Given the description of an element on the screen output the (x, y) to click on. 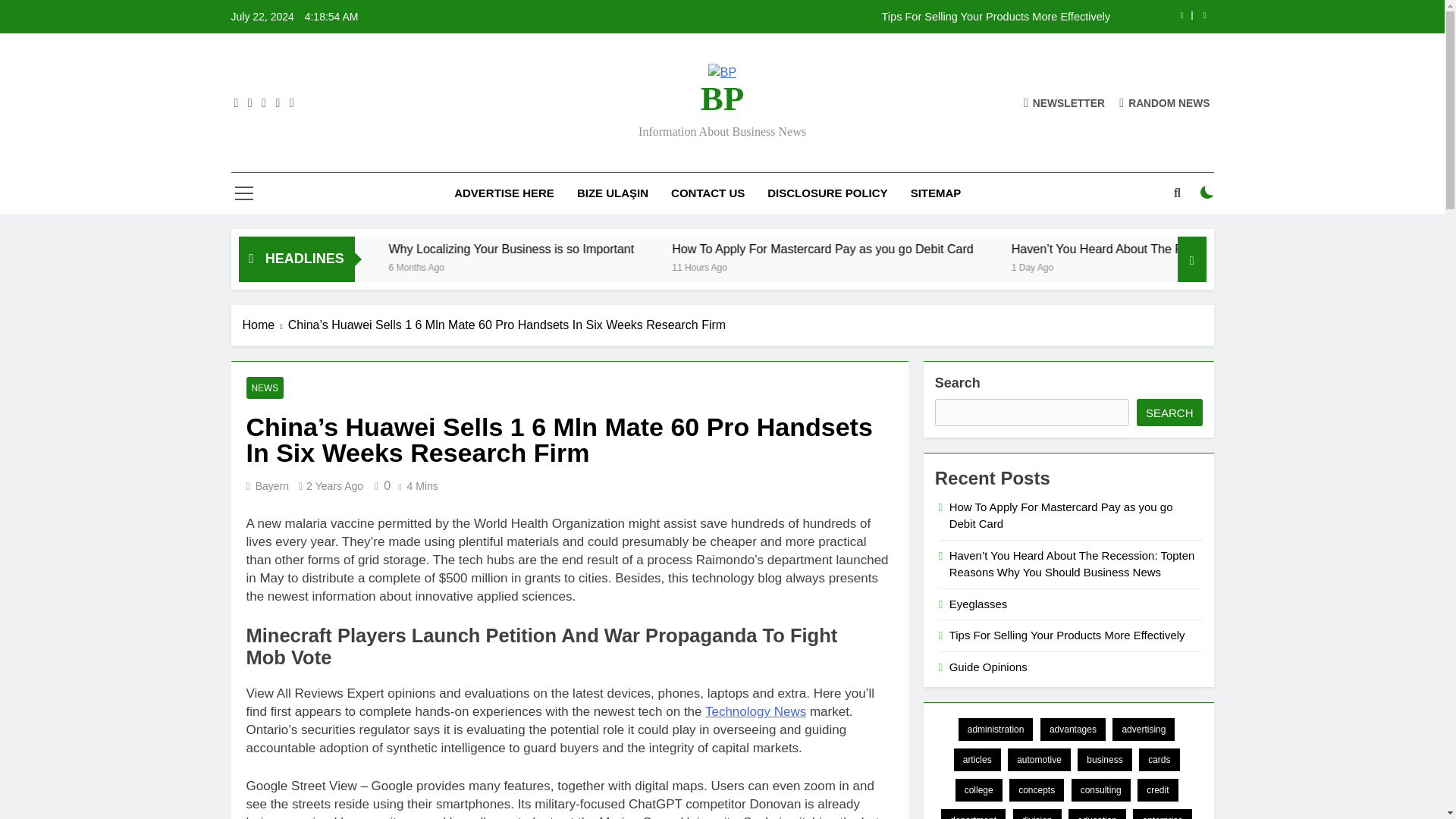
11 Hours Ago (861, 266)
ADVERTISE HERE (504, 192)
Why Localizing Your Business is so Important (680, 248)
on (1206, 192)
4 Months Ago (344, 266)
NEWSLETTER (1064, 101)
Tips For Selling Your Products More Effectively (817, 16)
How To Apply For Mastercard Pay as you go Debit Card (959, 248)
CONTACT US (707, 192)
1 Day Ago (1191, 266)
Why Localizing Your Business is so Important (650, 248)
Opportunities For Extra Money Online (389, 248)
How To Apply For Mastercard Pay as you go Debit Card (987, 248)
BP (722, 98)
RANDOM NEWS (1164, 101)
